Given the description of an element on the screen output the (x, y) to click on. 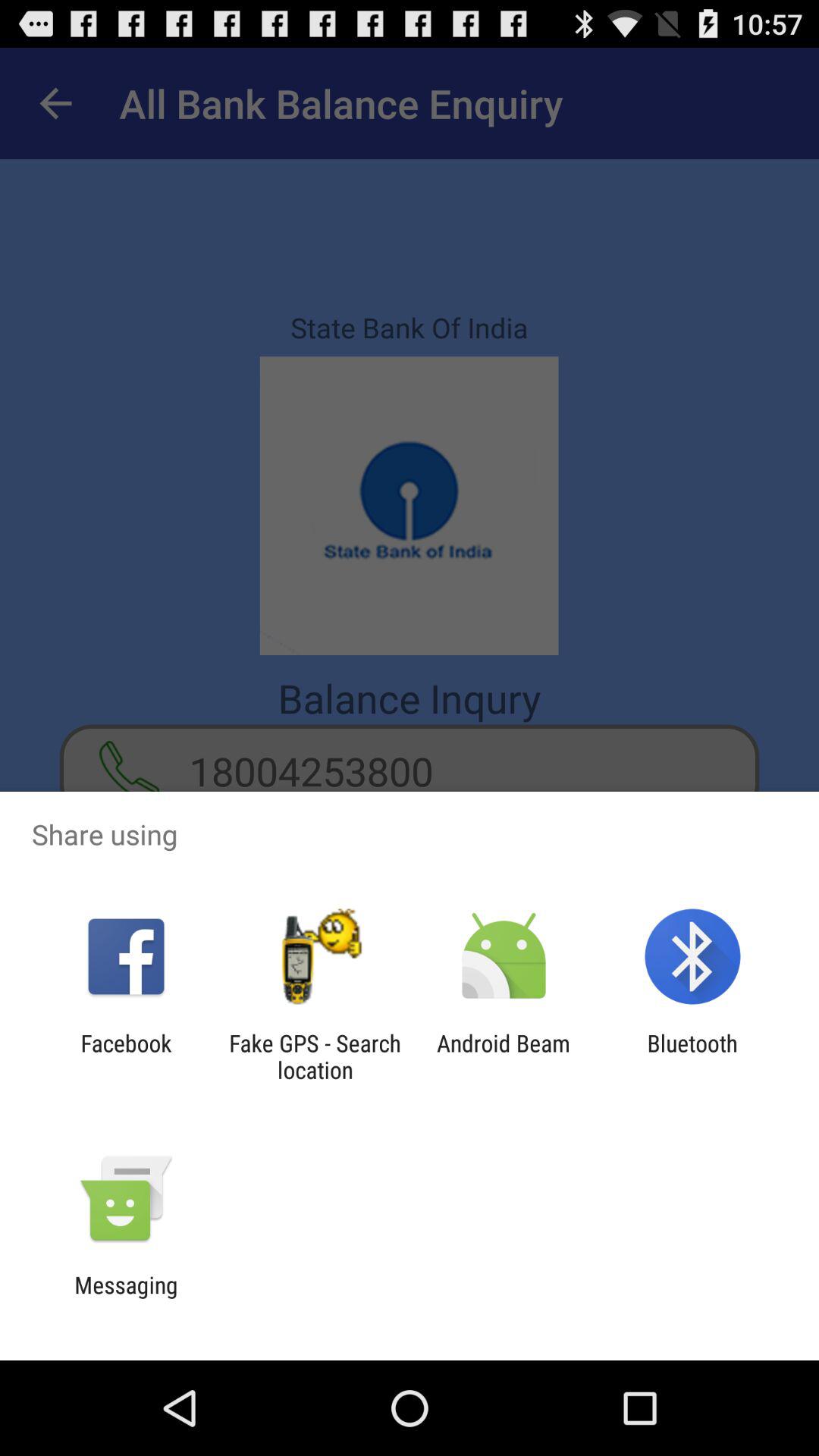
open app to the left of the bluetooth icon (503, 1056)
